Given the description of an element on the screen output the (x, y) to click on. 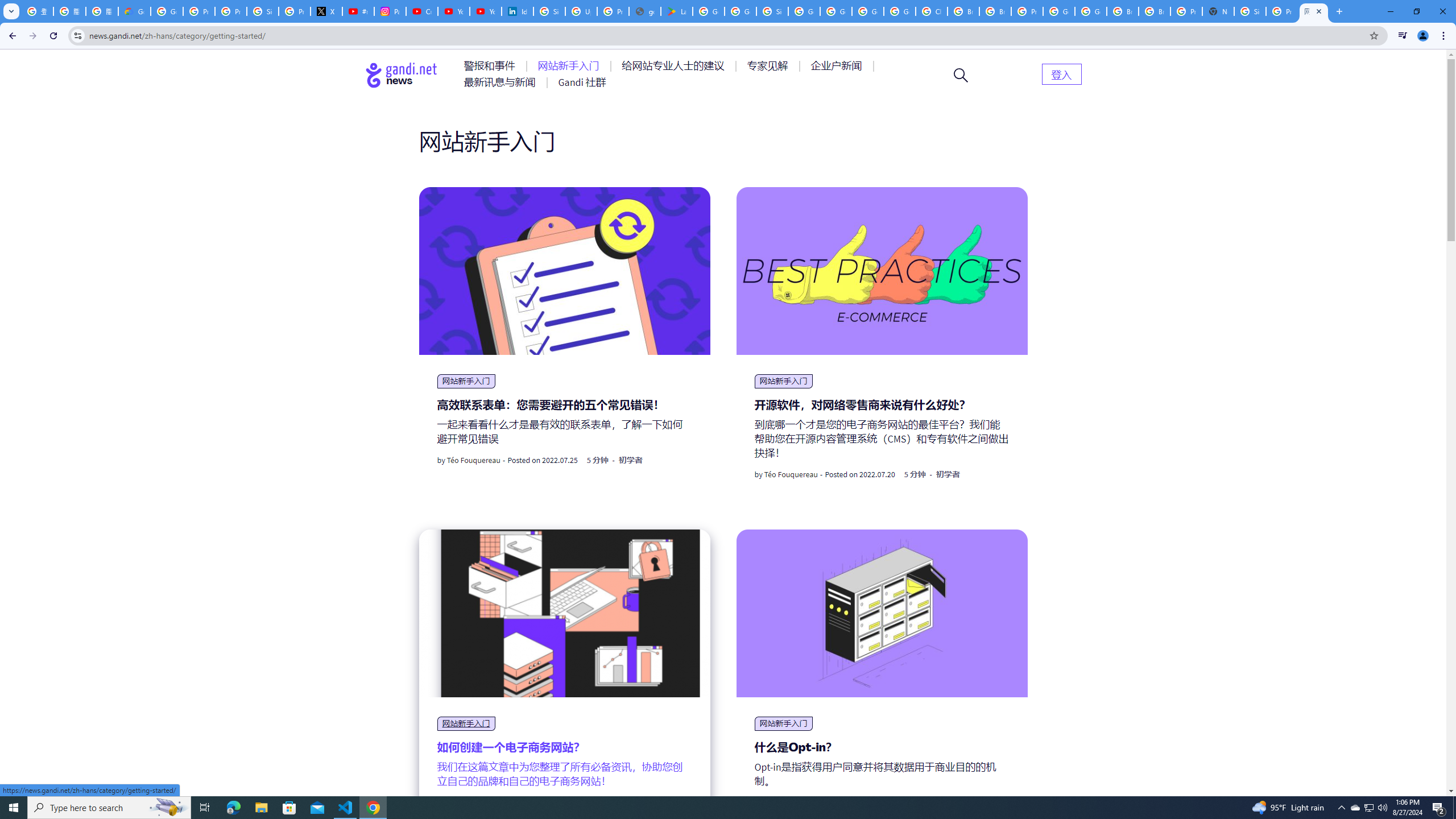
AutomationID: menu-item-77764 (769, 65)
X (326, 11)
Privacy Help Center - Policies Help (198, 11)
